Given the description of an element on the screen output the (x, y) to click on. 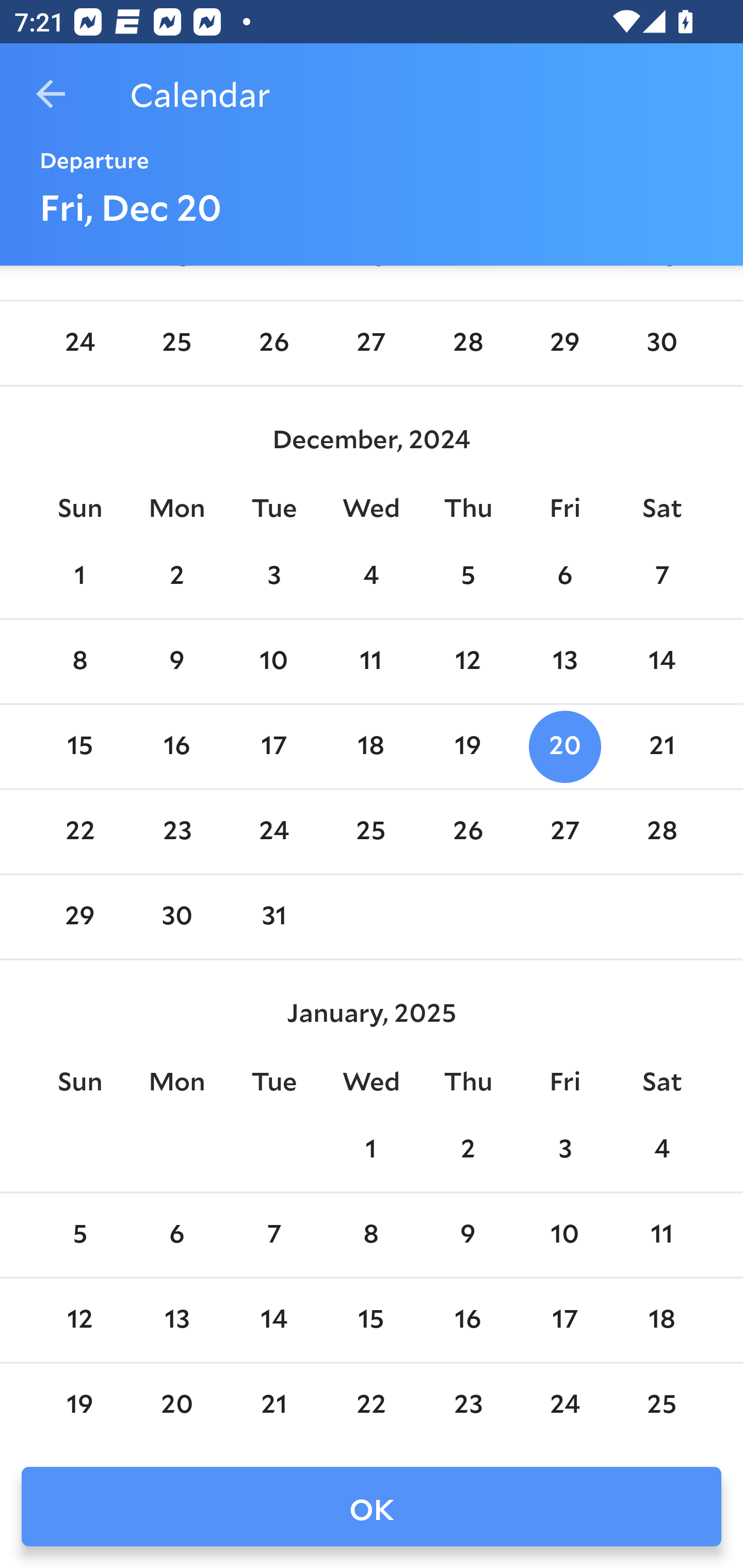
Navigate up (50, 93)
24 (79, 343)
25 (177, 343)
26 (273, 343)
27 (371, 343)
28 (467, 343)
29 (565, 343)
30 (661, 343)
1 (79, 576)
2 (177, 576)
3 (273, 576)
4 (371, 576)
5 (467, 576)
6 (565, 576)
7 (661, 576)
8 (79, 661)
9 (177, 661)
10 (273, 661)
11 (371, 661)
12 (467, 661)
13 (565, 661)
14 (661, 661)
15 (79, 746)
16 (177, 746)
17 (273, 746)
18 (371, 746)
19 (467, 746)
20 (565, 746)
21 (661, 746)
22 (79, 832)
23 (177, 832)
24 (273, 832)
25 (371, 832)
26 (467, 832)
27 (565, 832)
28 (661, 832)
29 (79, 917)
30 (177, 917)
31 (273, 917)
1 (371, 1150)
2 (467, 1150)
3 (565, 1150)
4 (661, 1150)
5 (79, 1235)
6 (177, 1235)
7 (273, 1235)
8 (371, 1235)
9 (467, 1235)
10 (565, 1235)
11 (661, 1235)
